Given the description of an element on the screen output the (x, y) to click on. 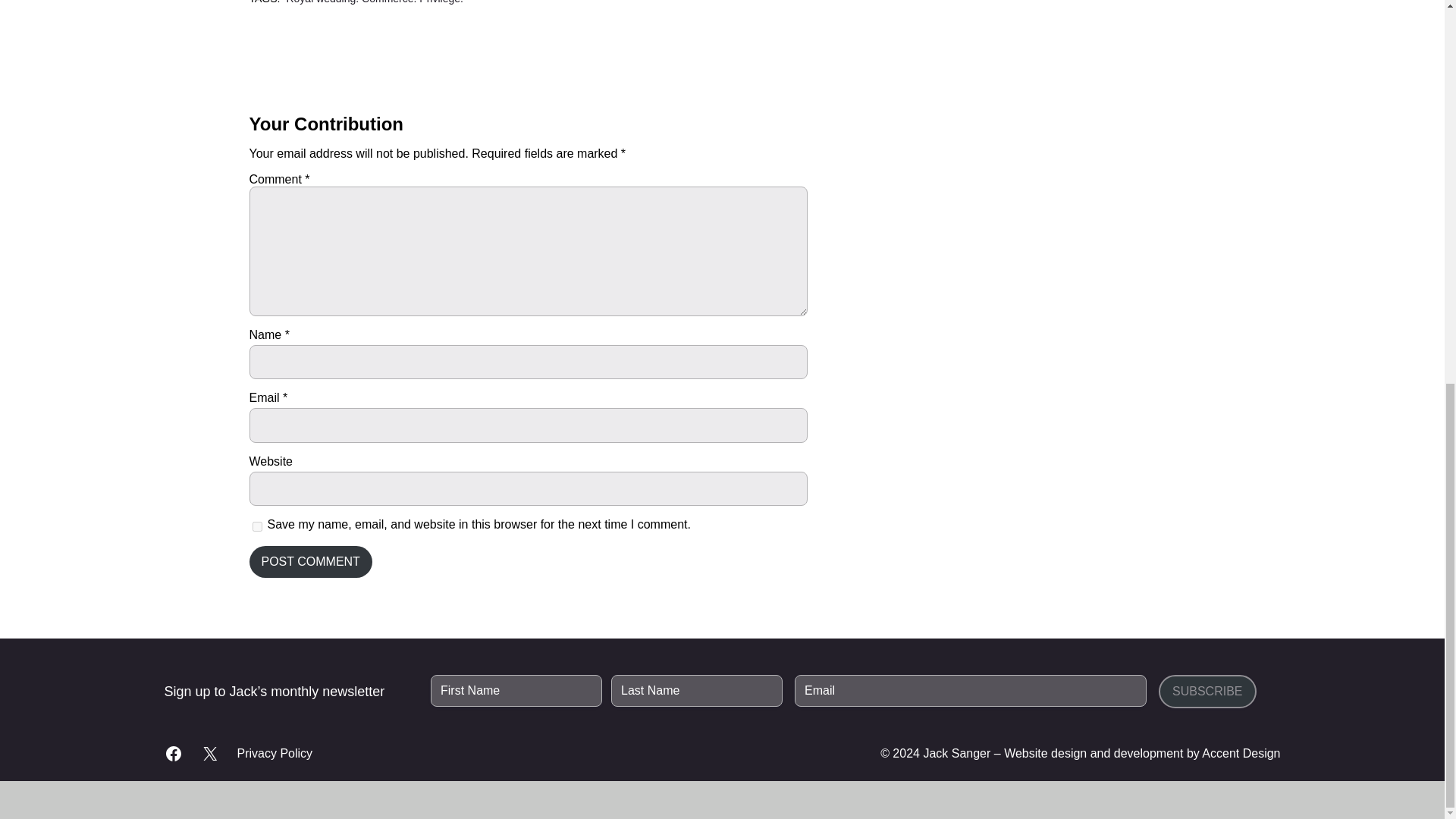
SUBSCRIBE (1206, 691)
Website design and development by Accent Design (1141, 753)
Royal wedding. Commerce. Privilege. (374, 2)
yes (256, 526)
Facebook (172, 753)
Privacy Policy (274, 753)
SUBSCRIBE (1206, 691)
Post Comment (309, 562)
X (209, 753)
Post Comment (309, 562)
